Given the description of an element on the screen output the (x, y) to click on. 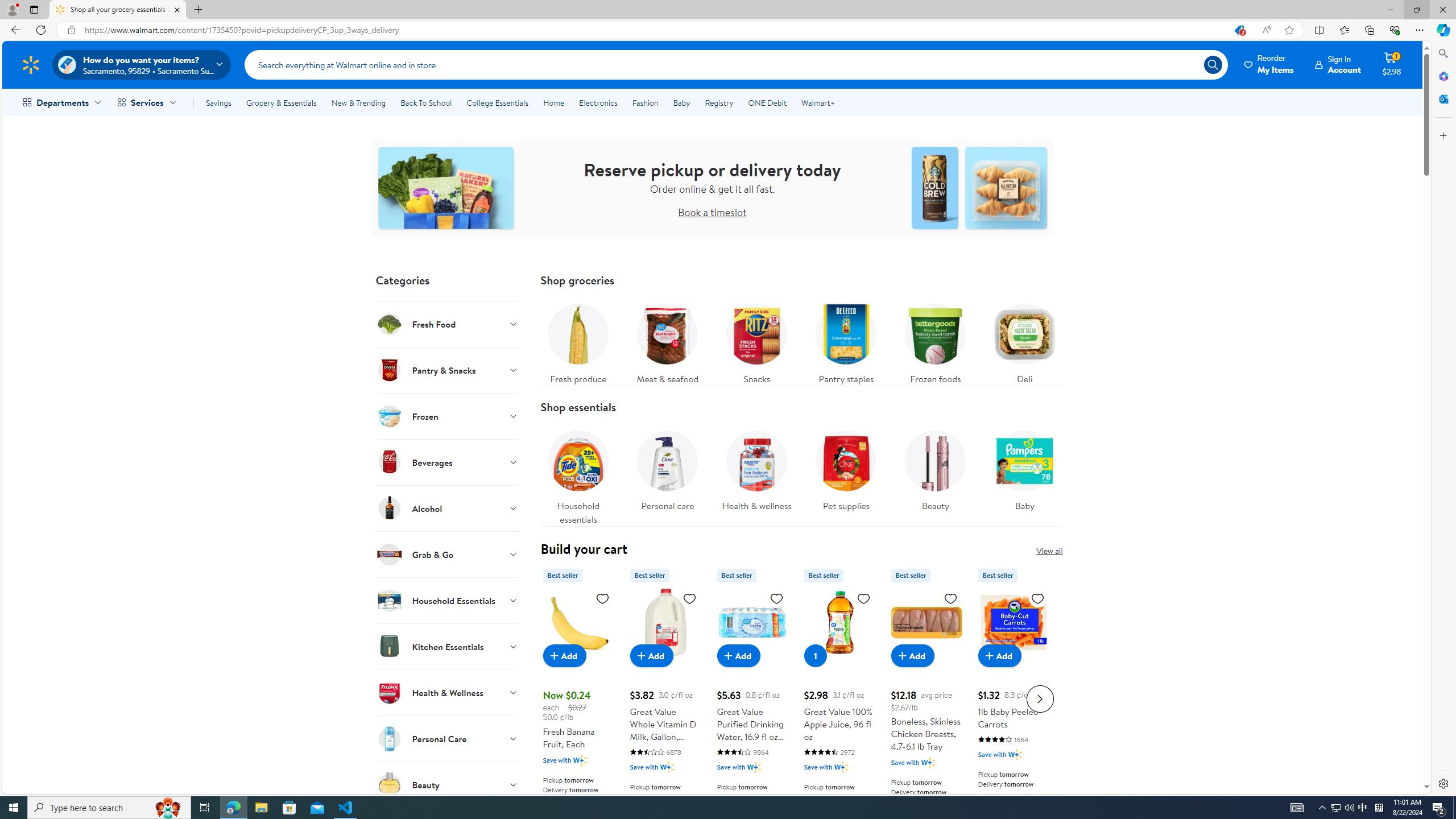
Walmart Homepage (30, 64)
Fashion (644, 102)
ReorderMy Items (1269, 64)
Alcohol (446, 507)
New & Trending (358, 102)
Registry (718, 102)
Deli (1024, 340)
Electronics (598, 102)
Great Value 100% Apple Juice, 96 fl oz (839, 621)
ONE Debit (767, 102)
